Given the description of an element on the screen output the (x, y) to click on. 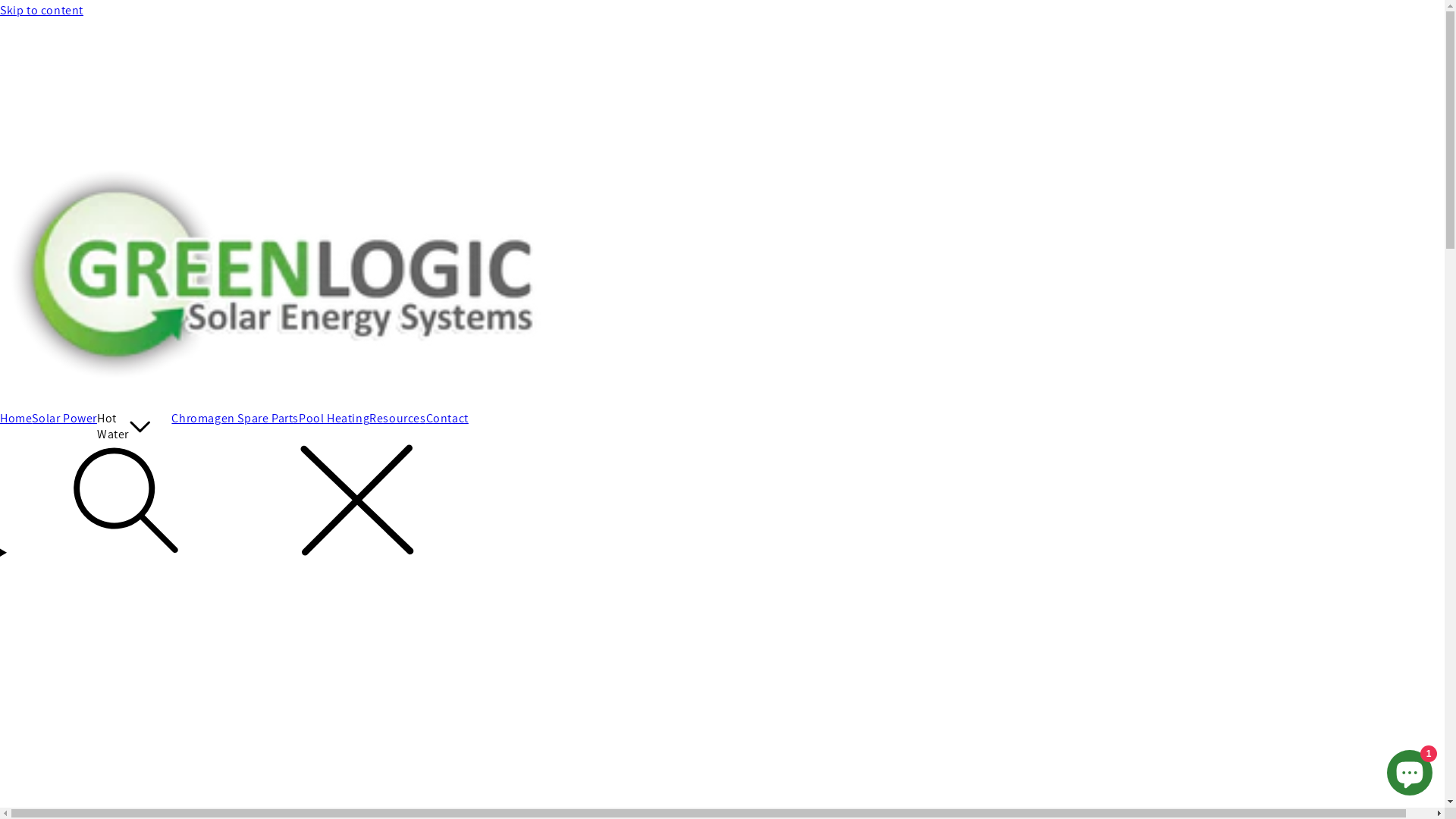
Shopify online store chat Element type: hover (1409, 769)
Pool Heating Element type: text (333, 418)
Skip to content Element type: text (722, 10)
Solar Power Element type: text (64, 418)
Home Element type: text (15, 418)
Resources Element type: text (397, 418)
Contact Element type: text (447, 418)
Chromagen Spare Parts Element type: text (234, 418)
